Given the description of an element on the screen output the (x, y) to click on. 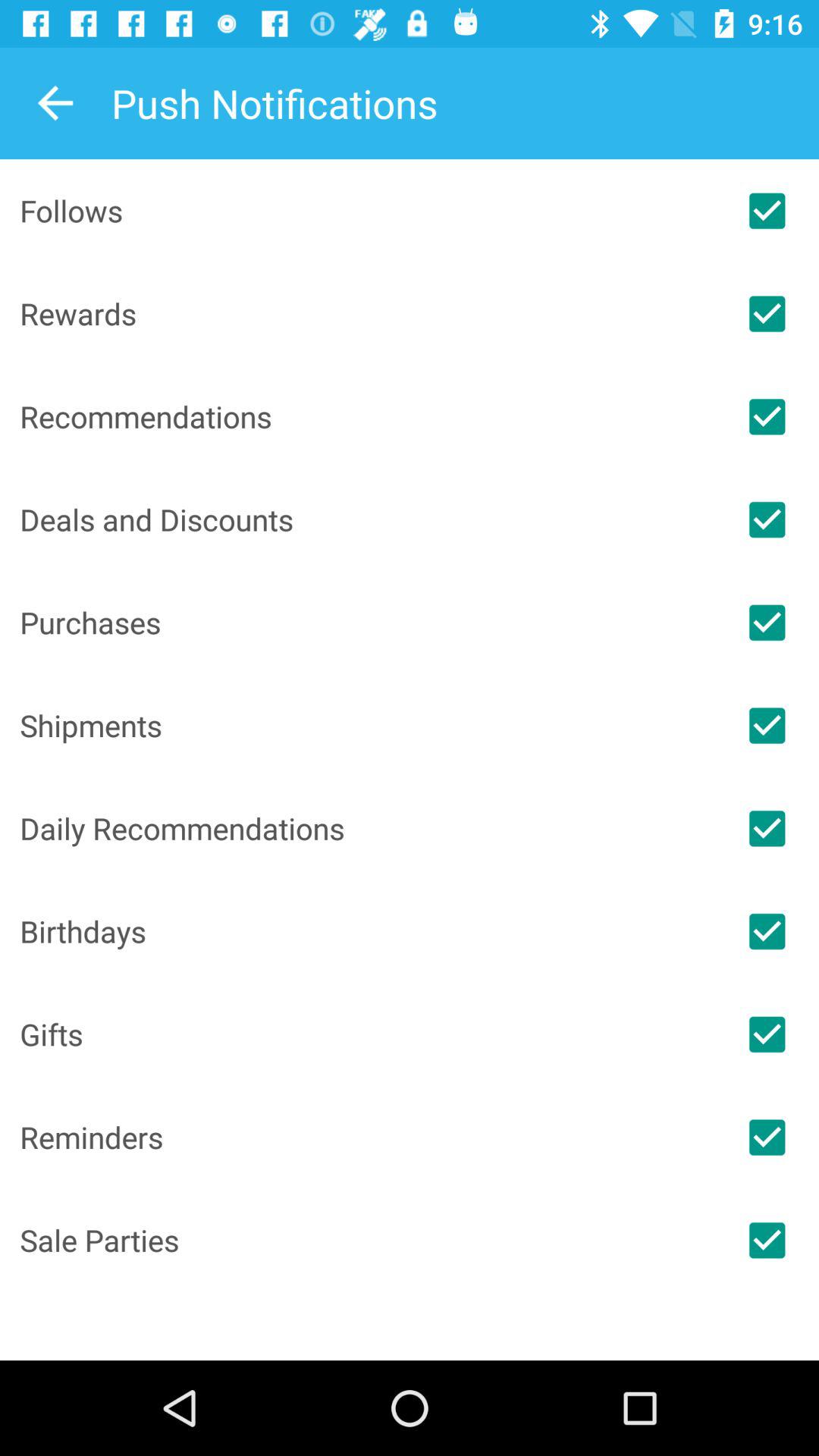
switch shippment option (767, 725)
